Given the description of an element on the screen output the (x, y) to click on. 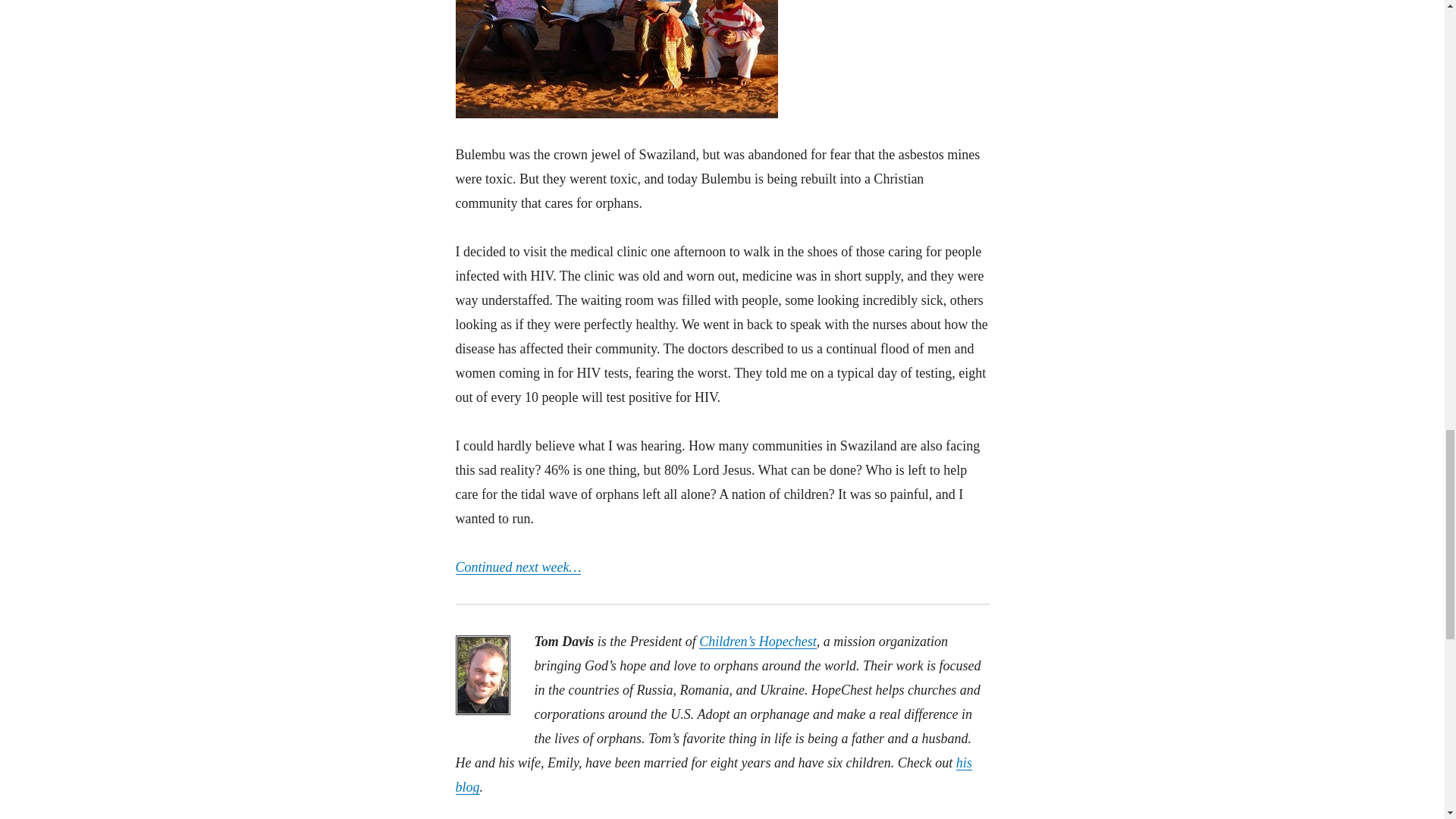
his blog (712, 774)
